Given the description of an element on the screen output the (x, y) to click on. 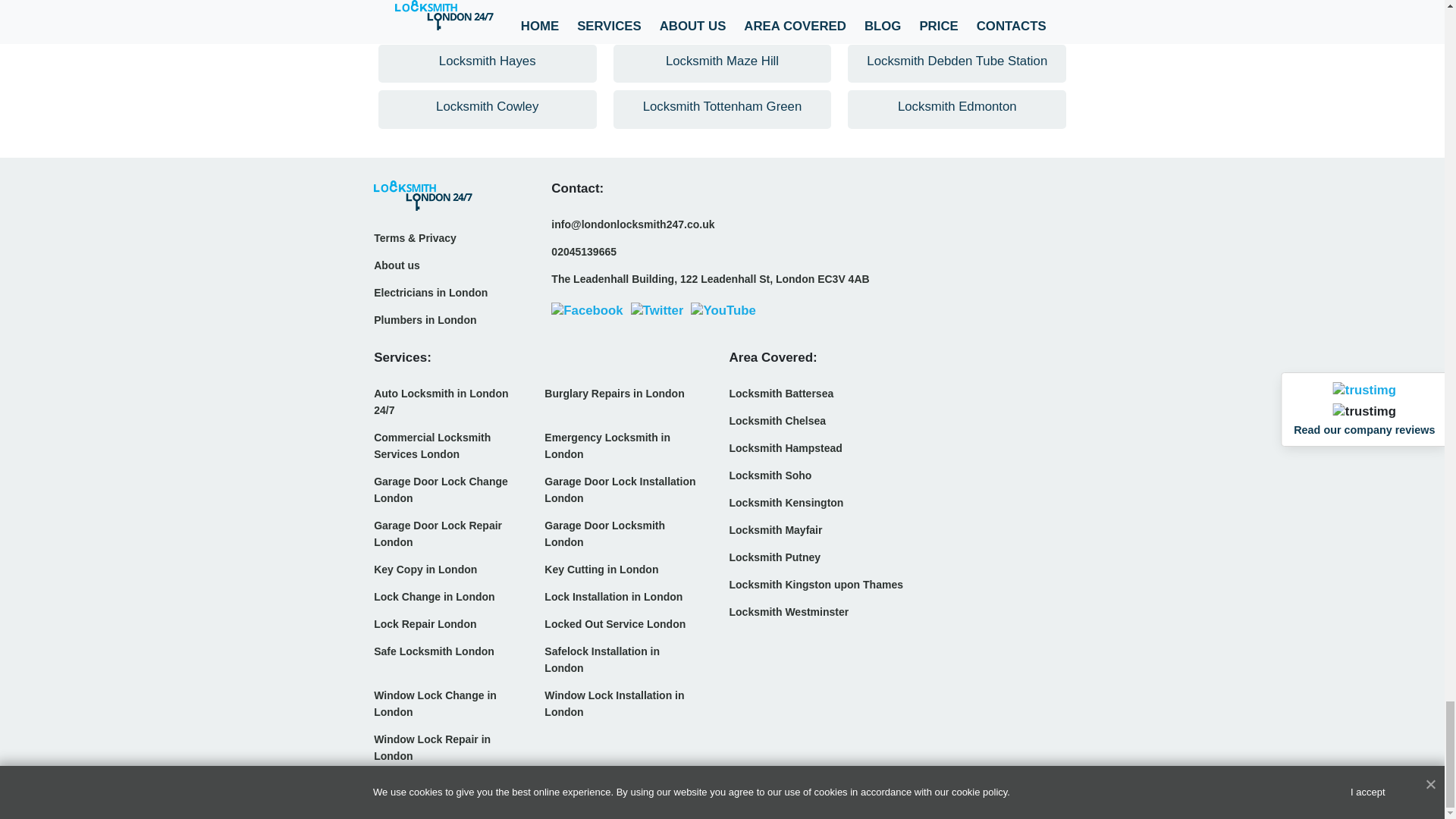
Follow Us on Facebook (587, 310)
Follow Us on Twitter (657, 310)
Follow Us on YouTube (722, 310)
